Given the description of an element on the screen output the (x, y) to click on. 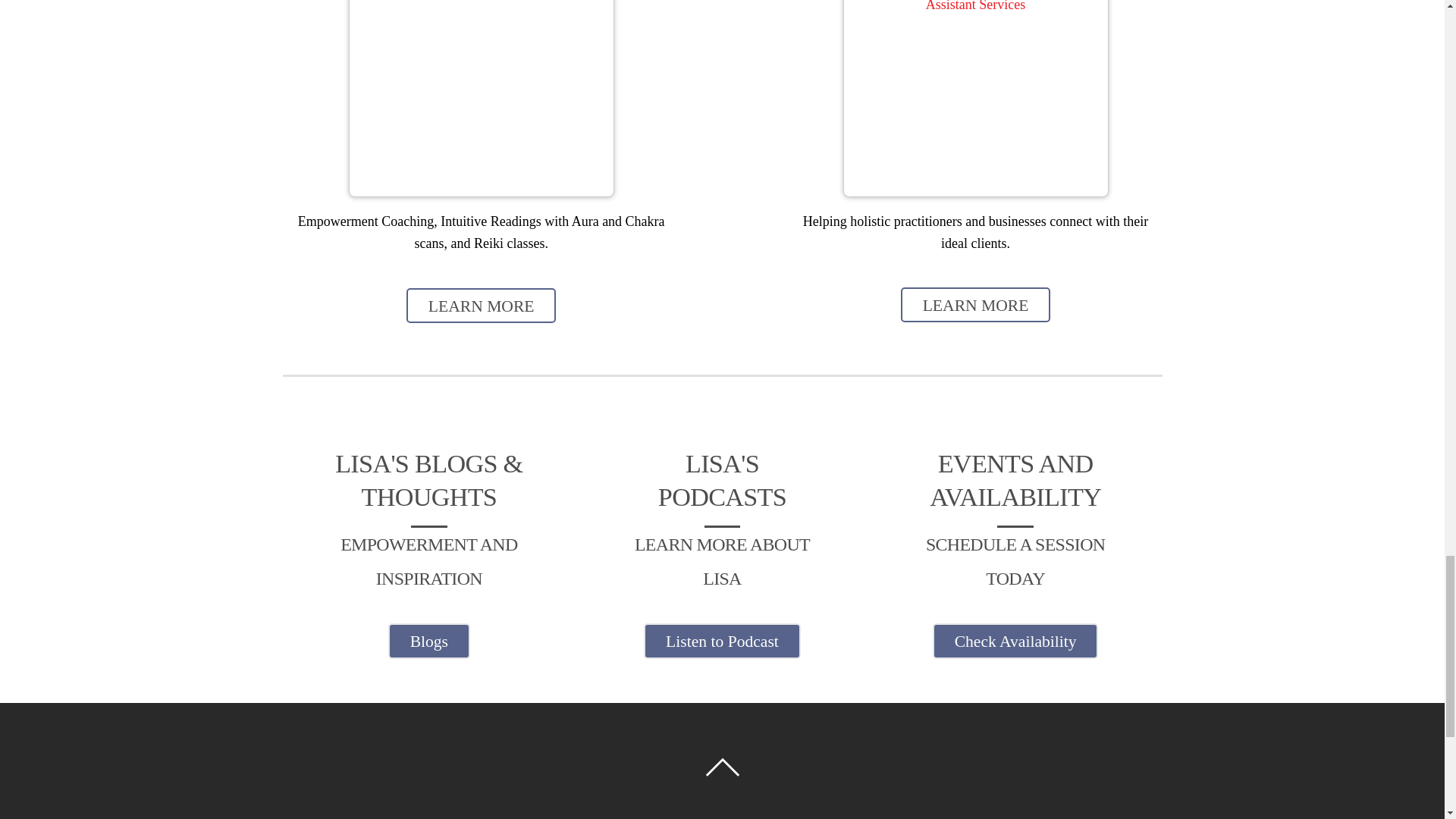
Listen to Podcast (721, 640)
Blogs (429, 640)
LEARN MORE (481, 305)
LEARN MORE (975, 304)
